Given the description of an element on the screen output the (x, y) to click on. 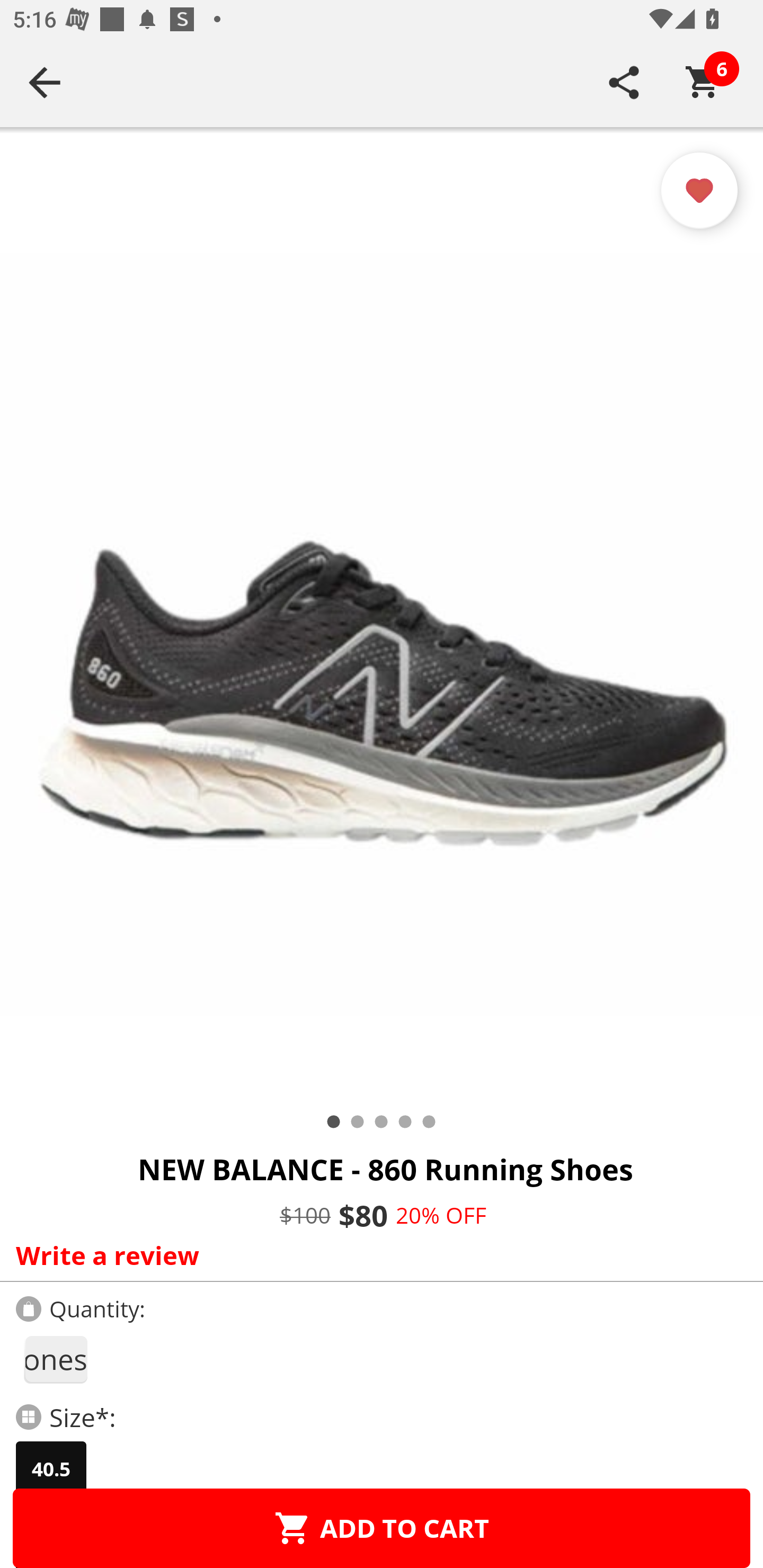
Navigate up (44, 82)
SHARE (623, 82)
Cart (703, 81)
Write a review (377, 1255)
1headphones (55, 1358)
40.5 (51, 1468)
ADD TO CART (381, 1528)
